Given the description of an element on the screen output the (x, y) to click on. 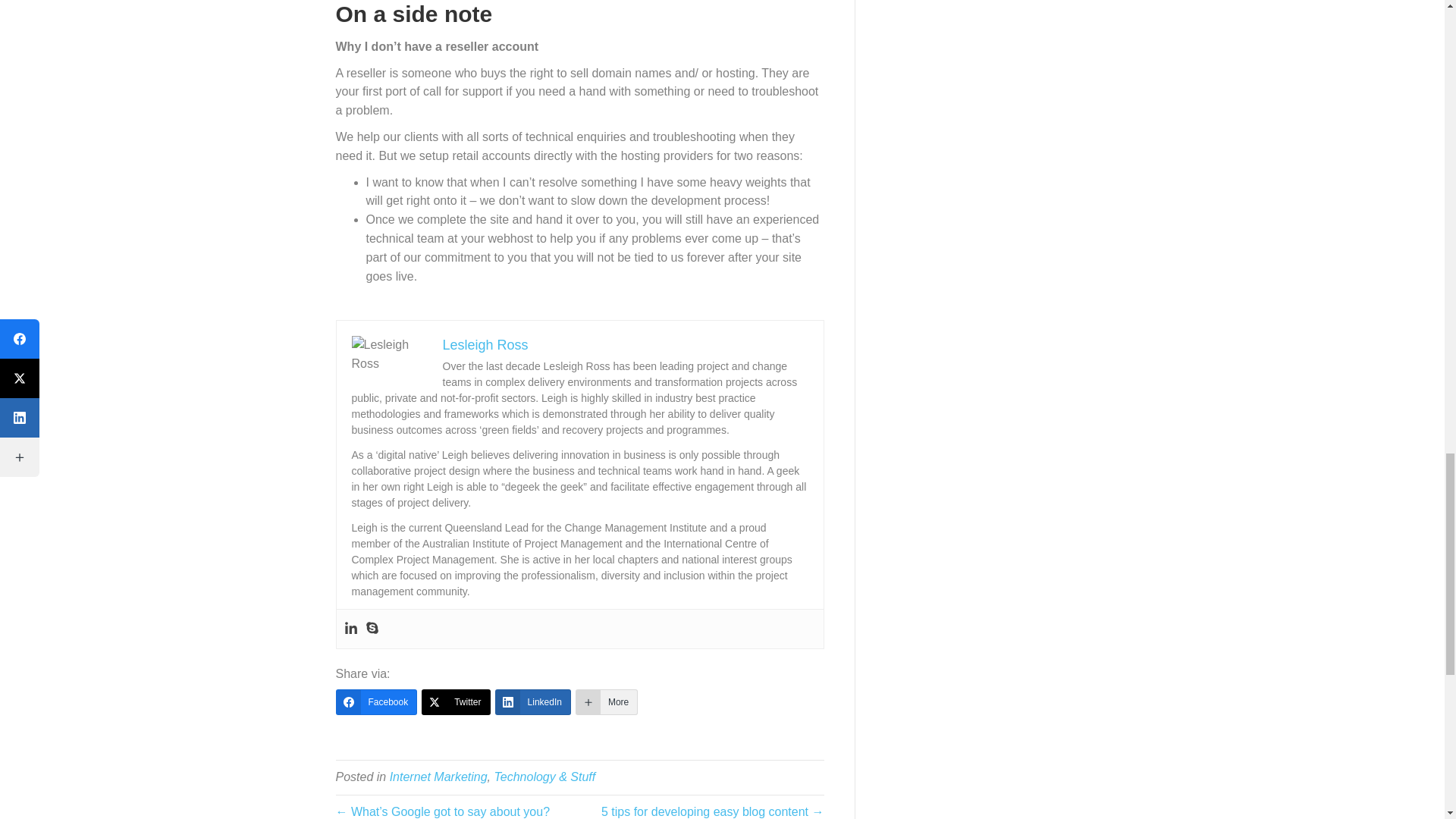
Facebook (375, 701)
More (606, 701)
LinkedIn (532, 701)
Internet Marketing (438, 776)
Twitter (455, 701)
Lesleigh Ross (485, 344)
